Given the description of an element on the screen output the (x, y) to click on. 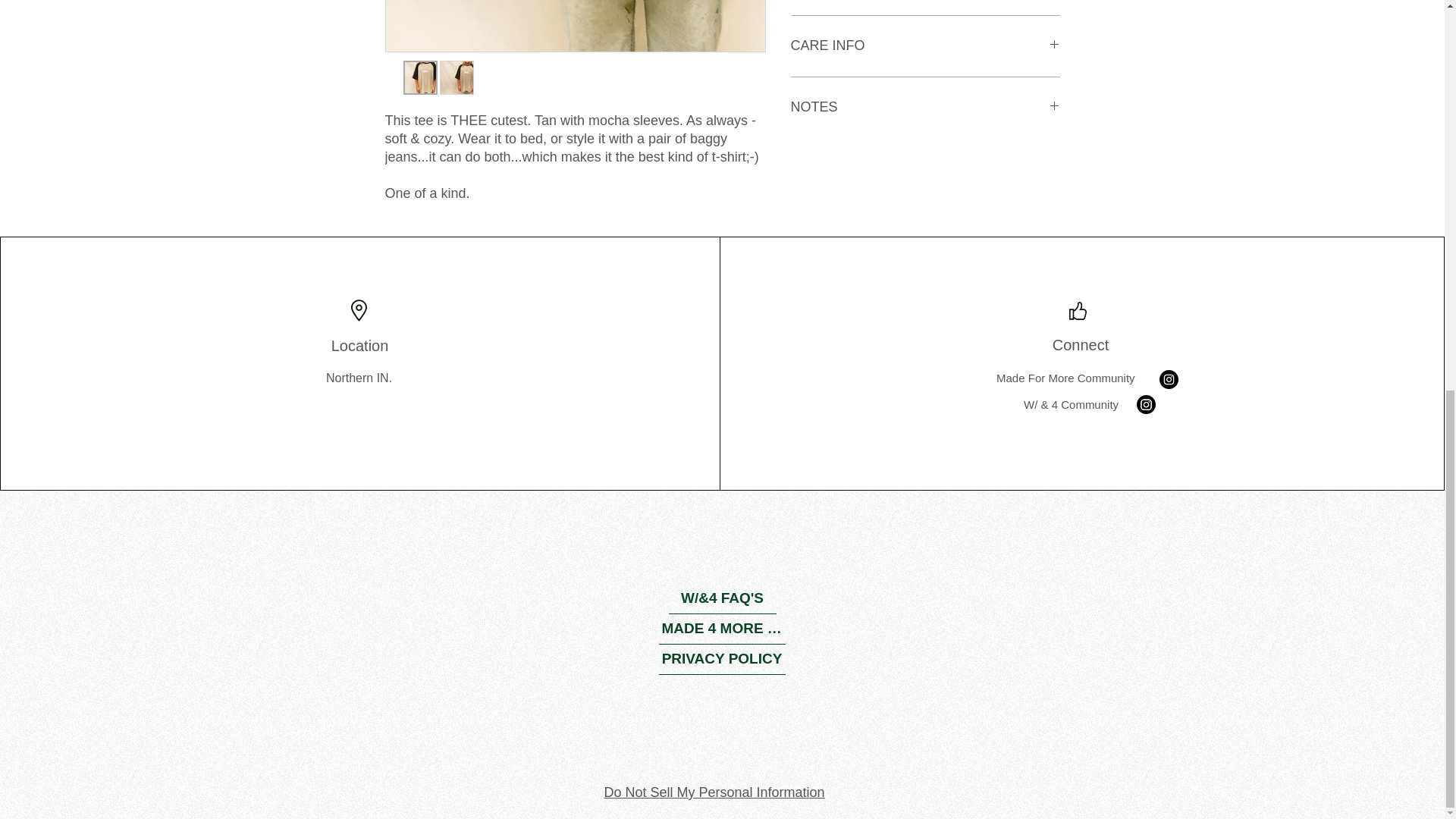
Do Not Sell My Personal Information (714, 793)
PRIVACY POLICY (721, 659)
NOTES (924, 107)
CARE INFO (924, 46)
MADE 4 MORE FAQ'S (721, 629)
View Cart (1011, 262)
